Given the description of an element on the screen output the (x, y) to click on. 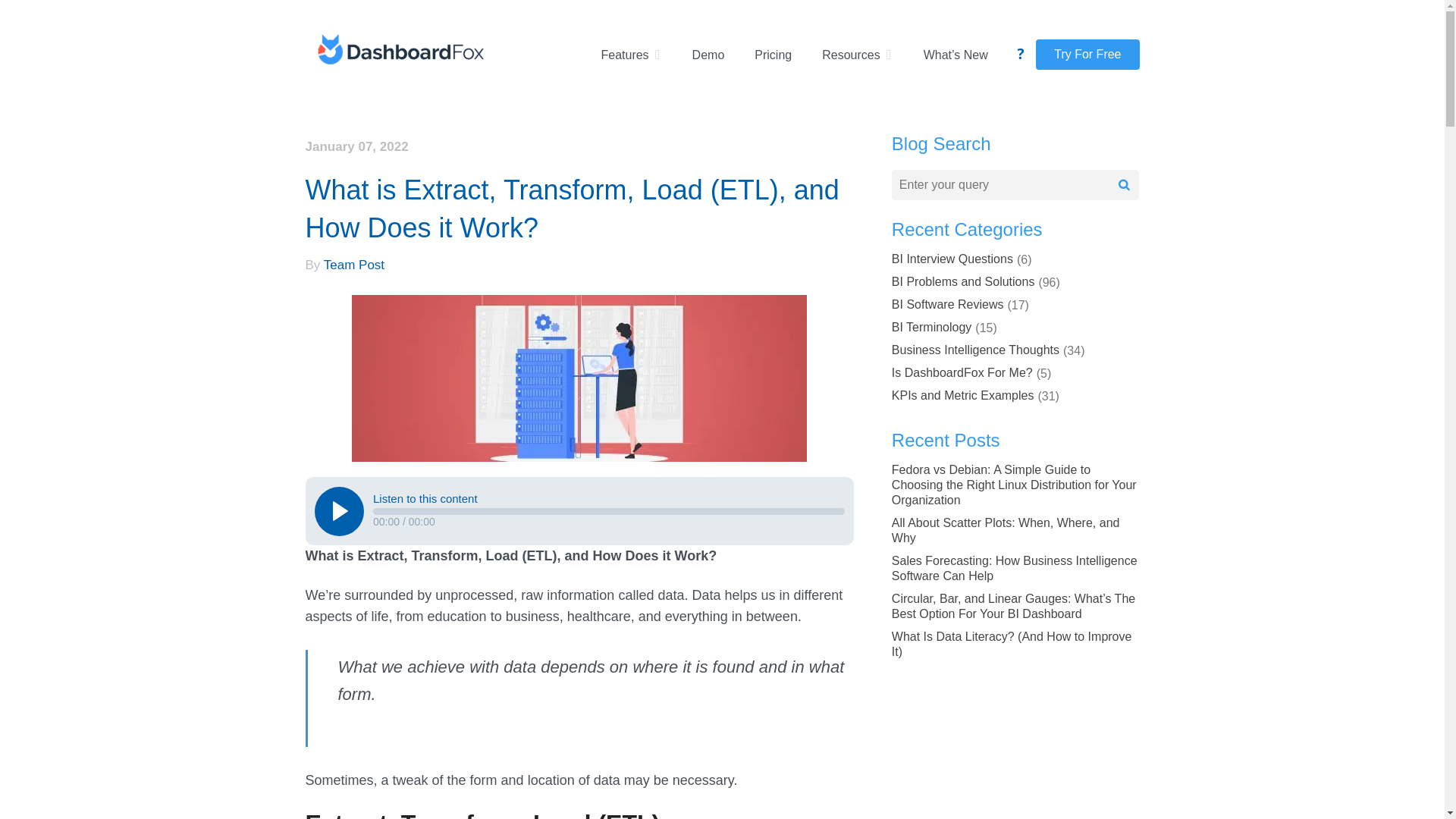
Team Post (353, 264)
Demo (709, 55)
Posts by Team Post (353, 264)
Try For Free (1086, 54)
DashboardFox (399, 51)
Pricing (773, 55)
Features (630, 55)
Resources (857, 55)
